Given the description of an element on the screen output the (x, y) to click on. 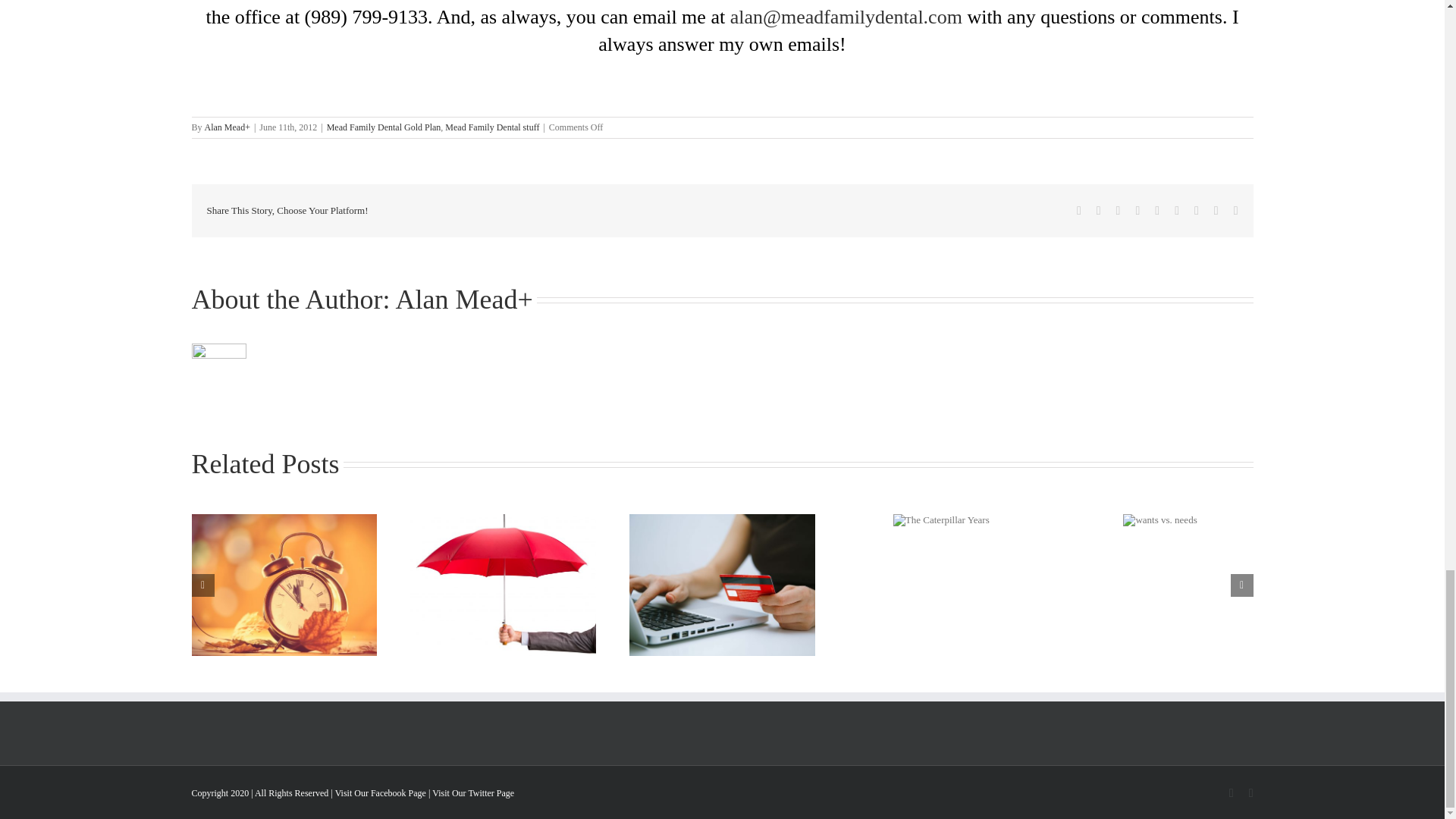
Posts by Alan Mead (457, 299)
Facebook (1079, 210)
Tumblr (1176, 210)
Facebook (1079, 210)
Pinterest (1195, 210)
Email (1236, 210)
Vk (1216, 210)
Mead Family Dental Gold Plan (383, 127)
Email (1236, 210)
Tumblr (1176, 210)
Twitter (1098, 210)
Twitter (1098, 210)
Alan Mead (457, 299)
Posts by Alan Mead (225, 127)
Reddit (1118, 210)
